Given the description of an element on the screen output the (x, y) to click on. 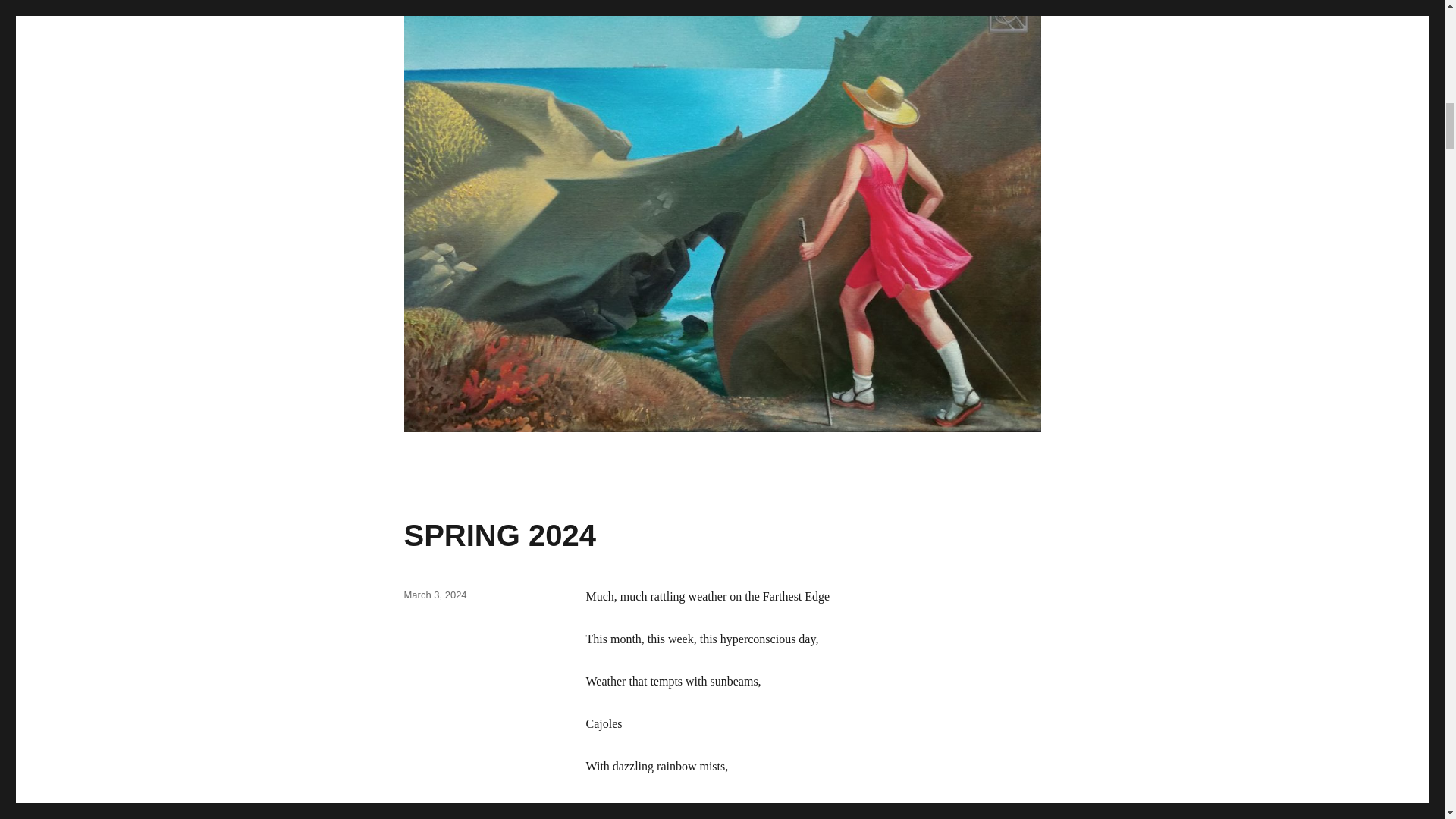
March 3, 2024 (434, 594)
SPRING 2024 (499, 535)
